Given the description of an element on the screen output the (x, y) to click on. 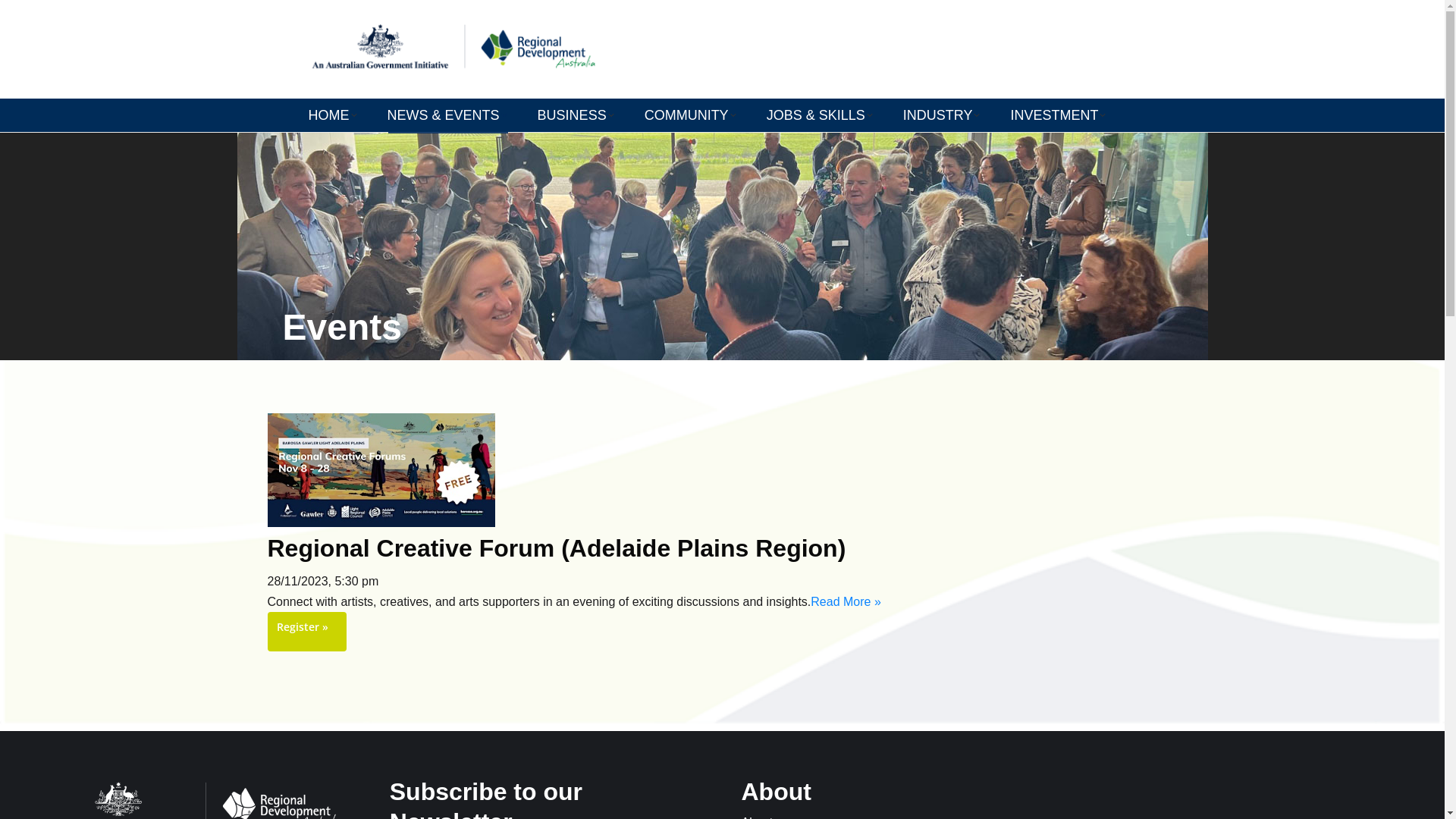
HOME Element type: text (332, 114)
INVESTMENT Element type: text (1057, 114)
NEWS & EVENTS Element type: text (447, 114)
COMMUNITY Element type: text (690, 114)
BUSINESS Element type: text (575, 114)
JOBS & SKILLS Element type: text (819, 114)
INDUSTRY Element type: text (941, 114)
Regional Creative Forum (Adelaide Plains Region) Element type: text (555, 547)
